Given the description of an element on the screen output the (x, y) to click on. 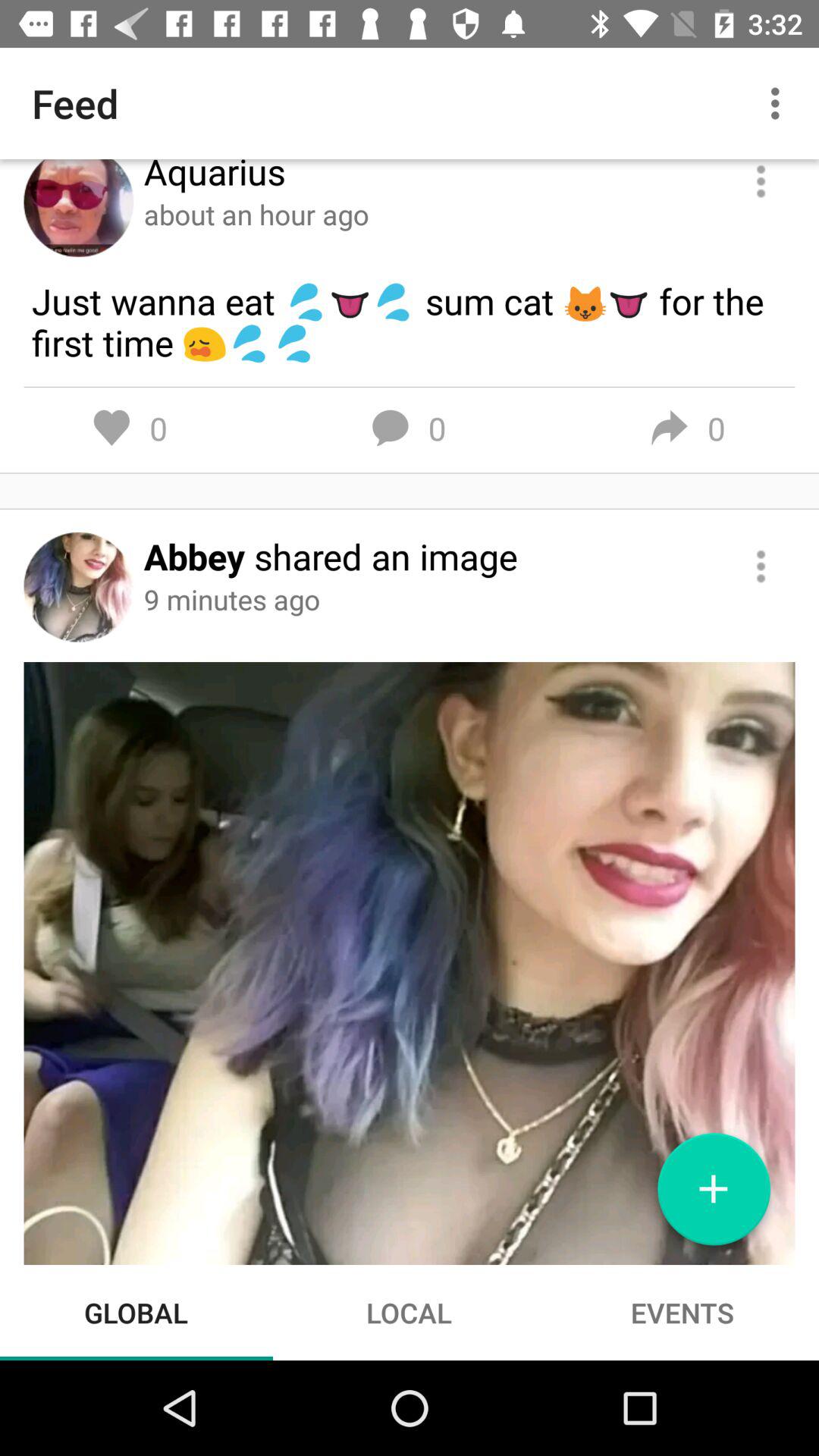
settings area (760, 182)
